Given the description of an element on the screen output the (x, y) to click on. 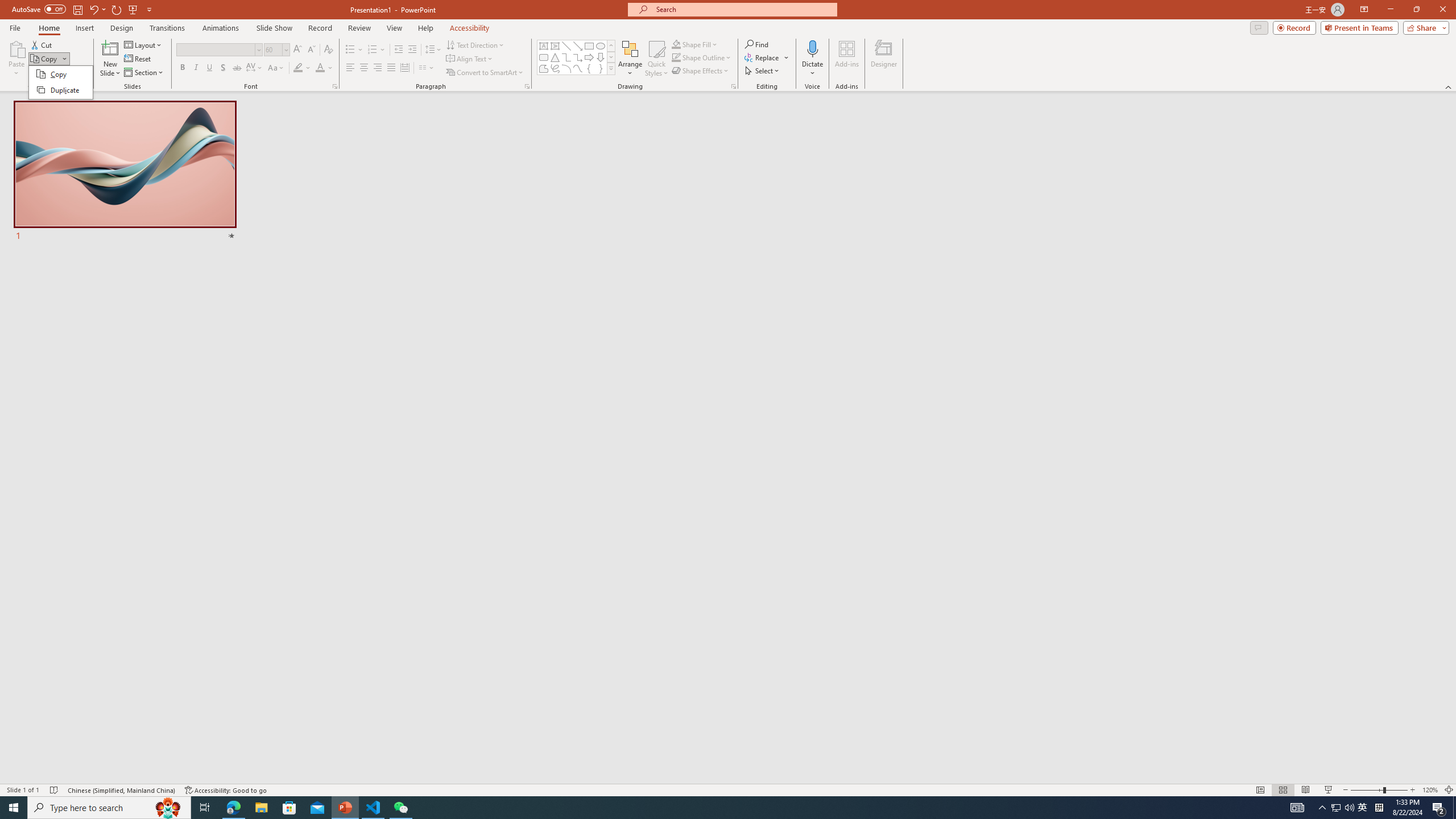
Zoom 120% (1430, 790)
